Given the description of an element on the screen output the (x, y) to click on. 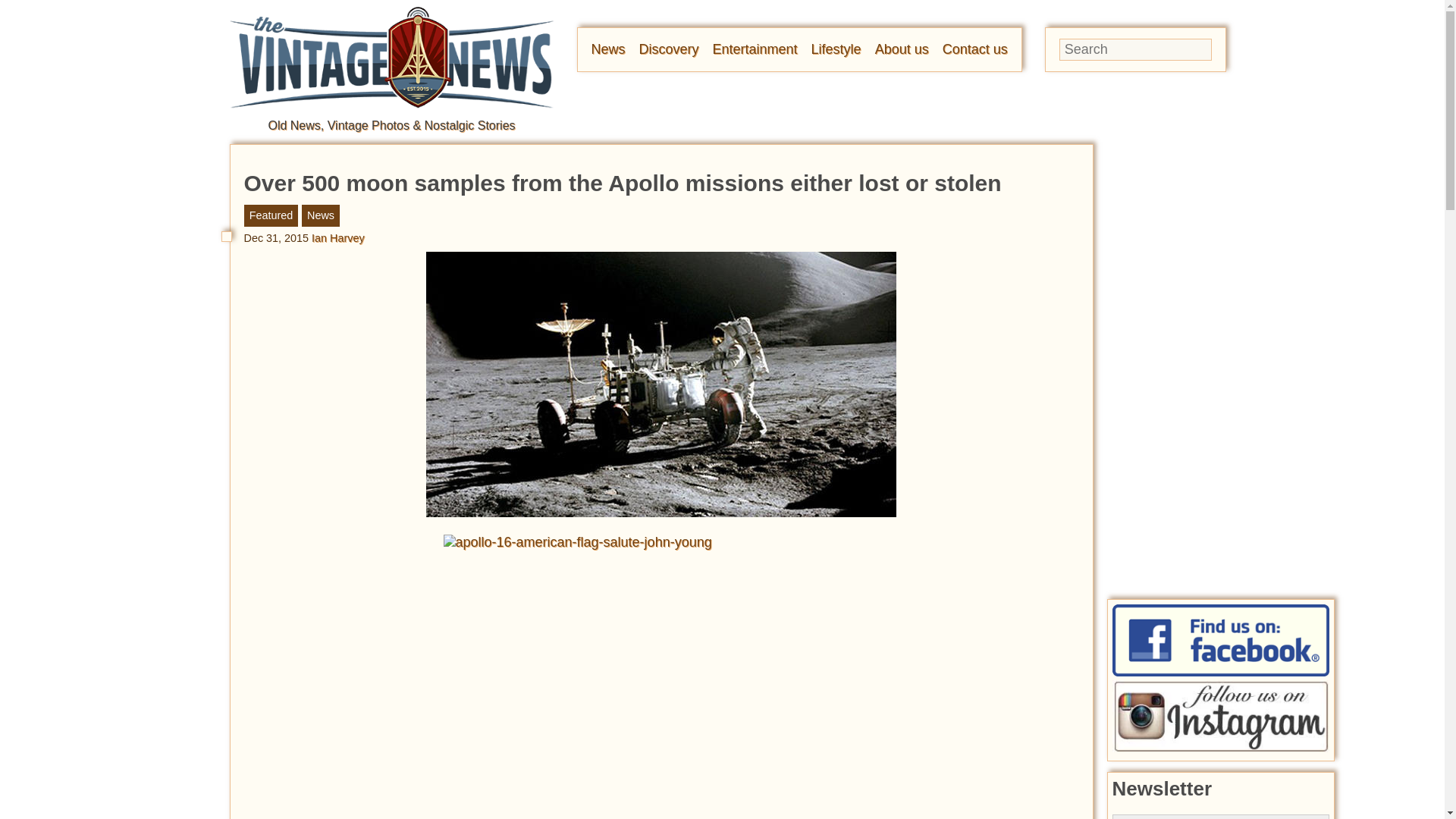
About us (901, 48)
News (608, 48)
Contact us (974, 48)
Lifestyle (835, 48)
Discovery (668, 48)
Entertainment (755, 48)
